Given the description of an element on the screen output the (x, y) to click on. 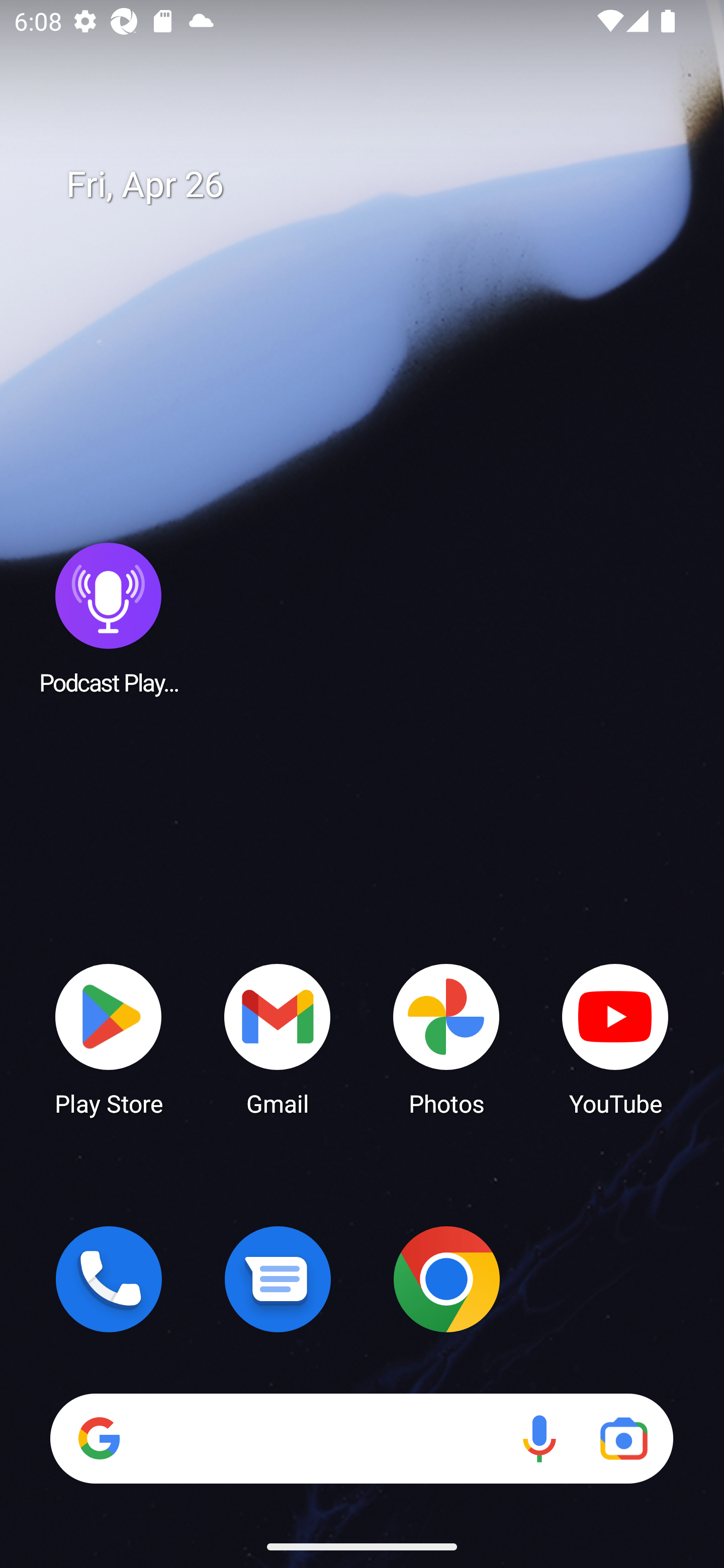
Fri, Apr 26 (375, 184)
Podcast Player (108, 617)
Play Store (108, 1038)
Gmail (277, 1038)
Photos (445, 1038)
YouTube (615, 1038)
Phone (108, 1279)
Messages (277, 1279)
Chrome (446, 1279)
Search Voice search Google Lens (361, 1438)
Voice search (539, 1438)
Google Lens (623, 1438)
